Given the description of an element on the screen output the (x, y) to click on. 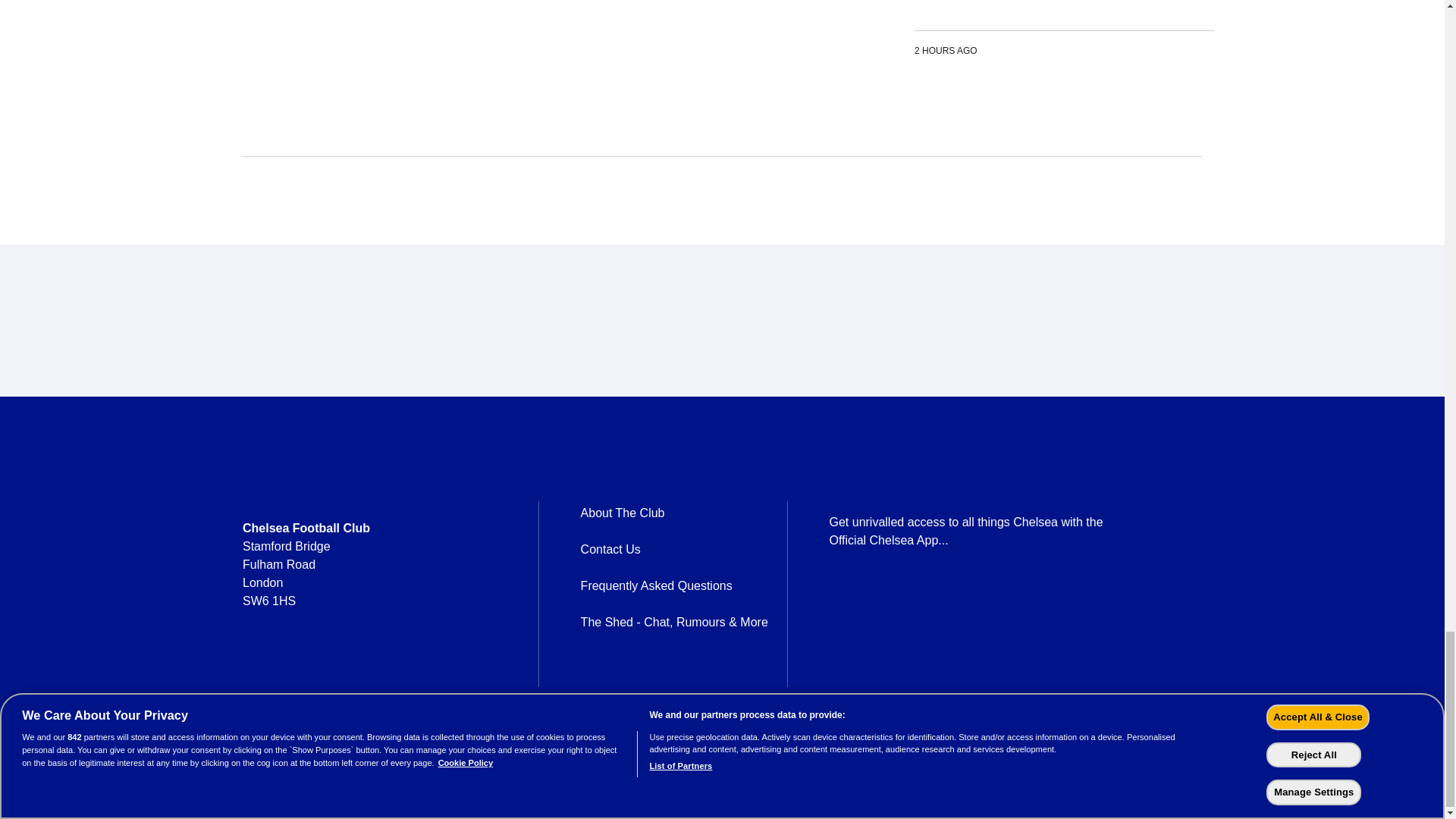
tiktok (410, 676)
twitter (292, 676)
youtube (371, 676)
Win a VIP trip to Stamford Bridge (1064, 34)
facebook (253, 676)
instagram (331, 676)
